Given the description of an element on the screen output the (x, y) to click on. 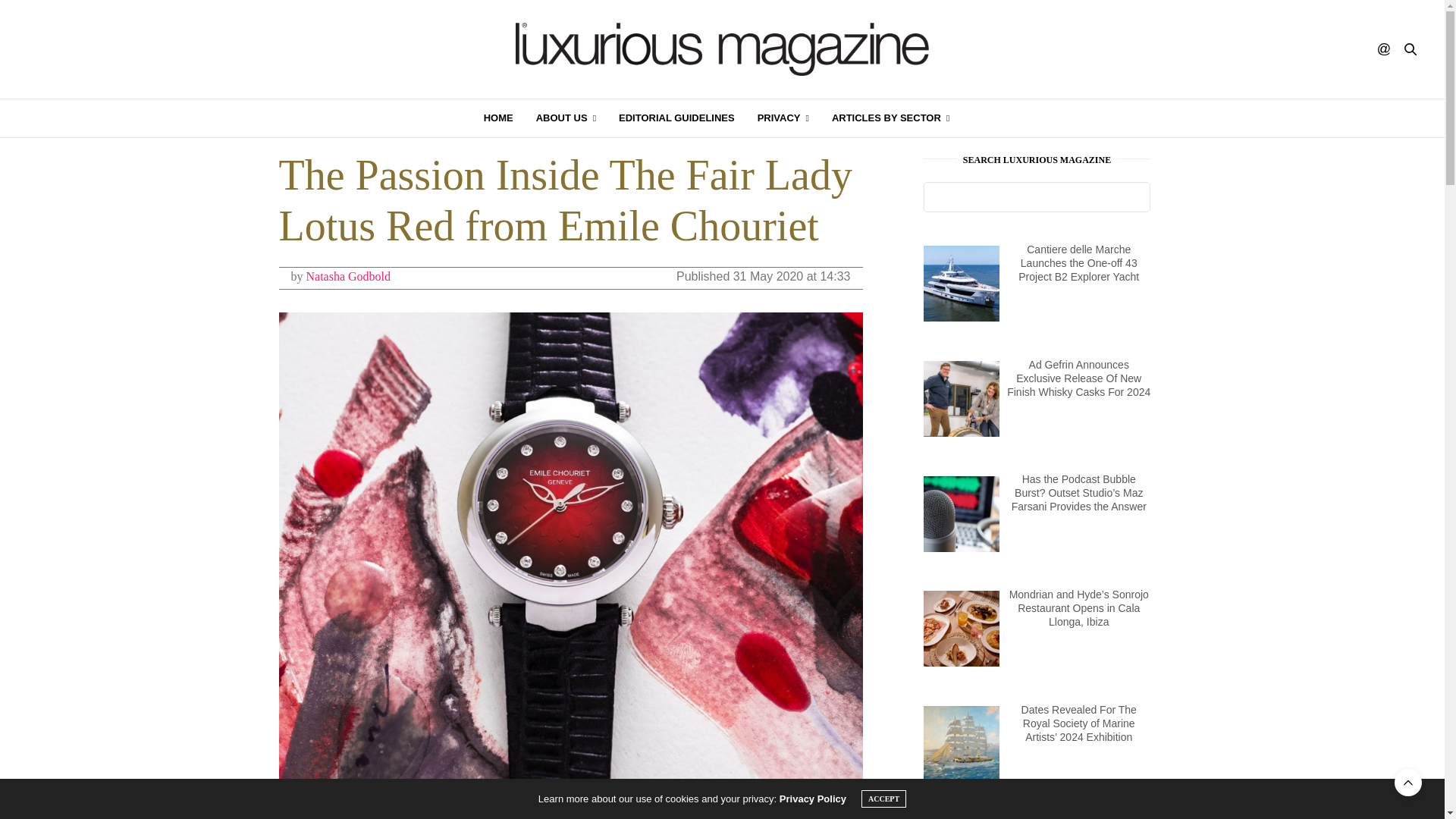
ABOUT US (565, 118)
Luxurious Magazine articles by industry sector (890, 118)
Posts by Natasha Godbold (348, 276)
Luxurious Magazine (722, 49)
